Given the description of an element on the screen output the (x, y) to click on. 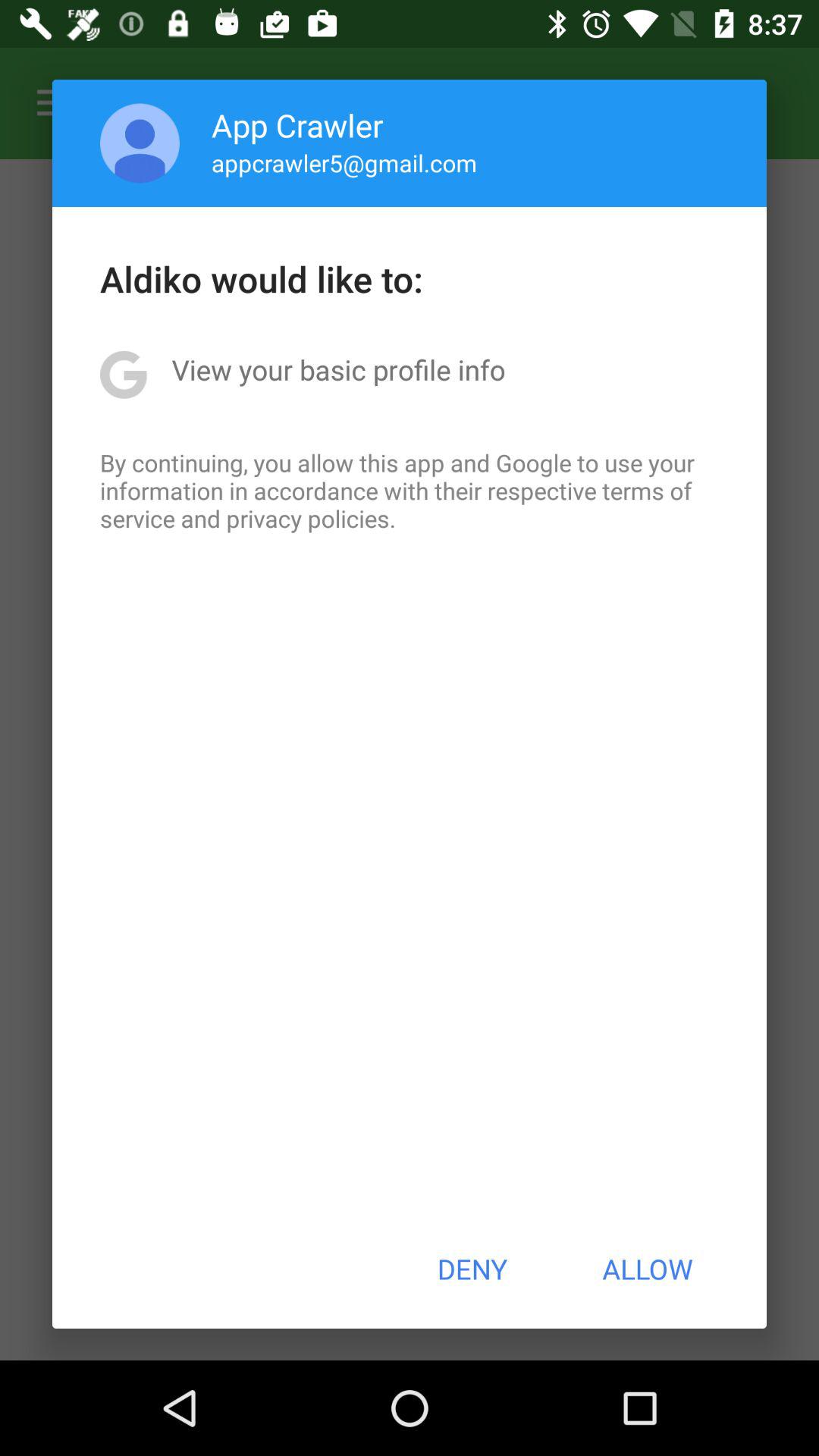
tap app to the left of the app crawler (139, 143)
